Given the description of an element on the screen output the (x, y) to click on. 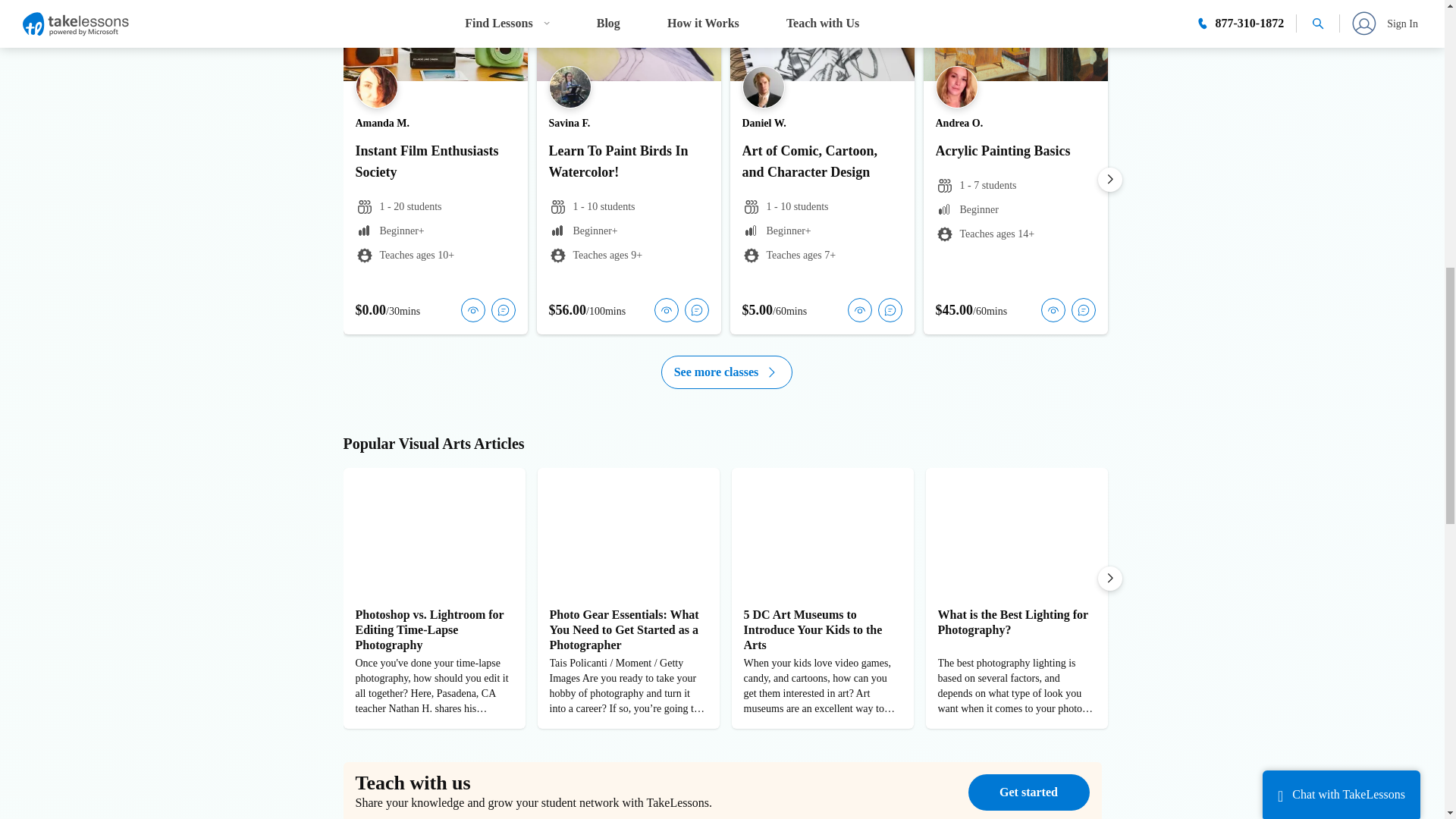
Acrylic Painting Basics (1016, 150)
Amanda M. (382, 123)
Instant Film Enthusiasts Society (435, 161)
Daniel W. (763, 123)
Savina F. (569, 123)
Art of Comic, Cartoon, and Character Design (821, 161)
Learn To Paint Birds In Watercolor! (628, 161)
Andrea O. (960, 123)
